Given the description of an element on the screen output the (x, y) to click on. 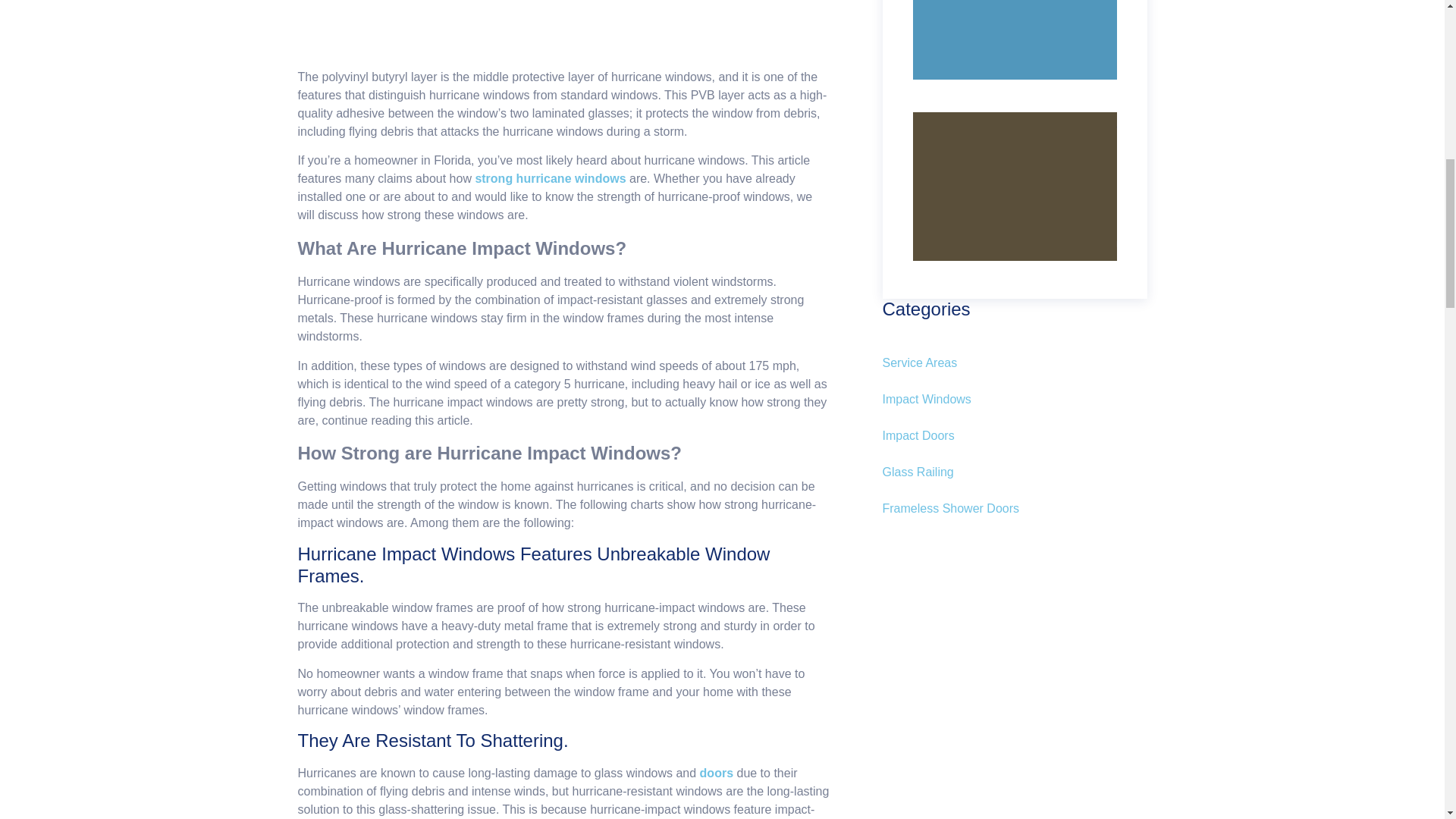
Service Areas (1014, 370)
Impact Doors (1014, 443)
strong hurricane windows (550, 178)
Impact Windows (1014, 407)
doors (716, 772)
